Given the description of an element on the screen output the (x, y) to click on. 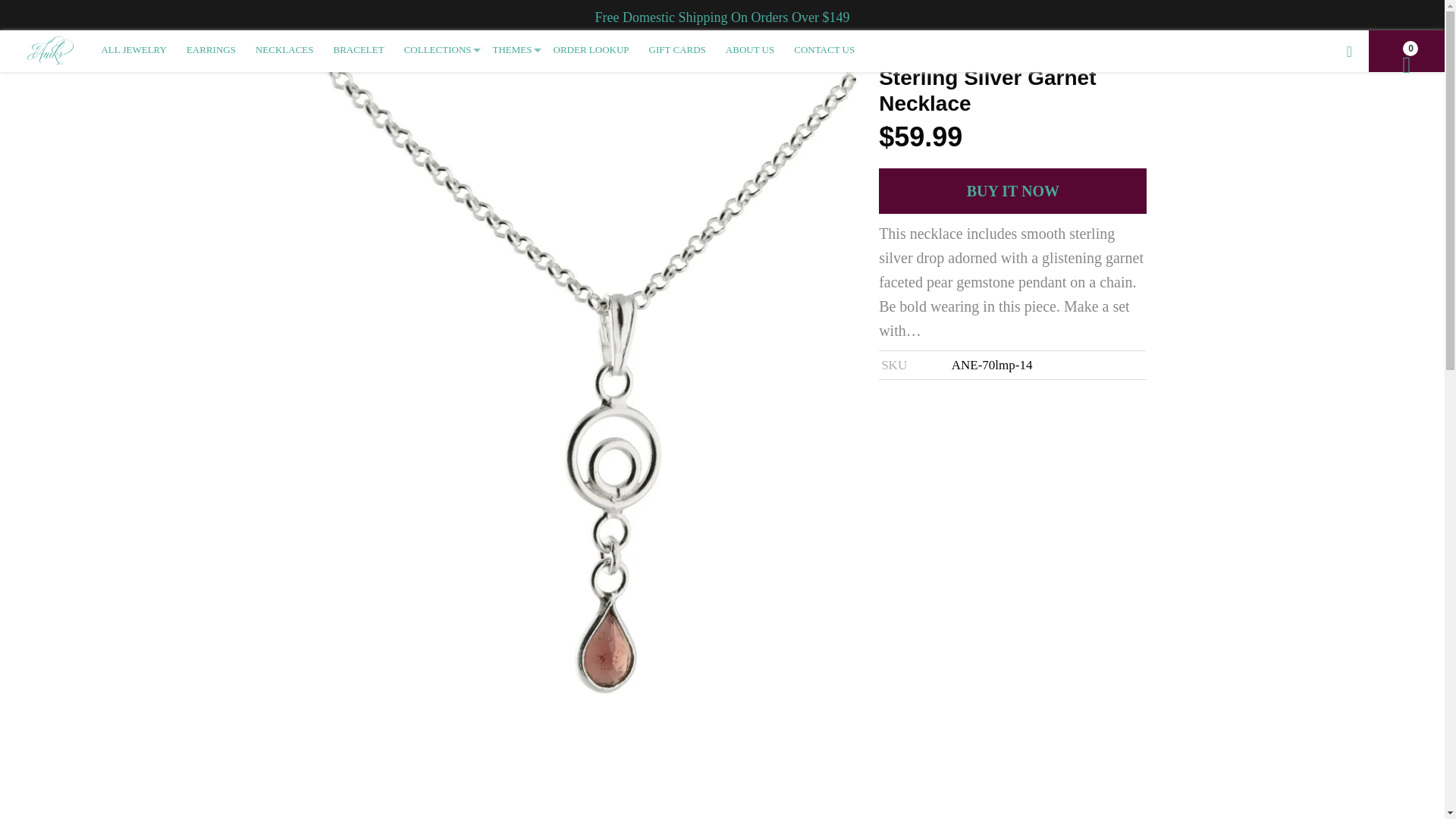
GIFT CARDS (677, 48)
ORDER LOOKUP (591, 48)
Search (1349, 51)
NECKLACES (284, 48)
ALL JEWELRY (133, 48)
BRACELET (358, 48)
CONTACT US (824, 48)
THEMES (513, 48)
EARRINGS (211, 48)
ABOUT US (750, 48)
COLLECTIONS (438, 48)
